Given the description of an element on the screen output the (x, y) to click on. 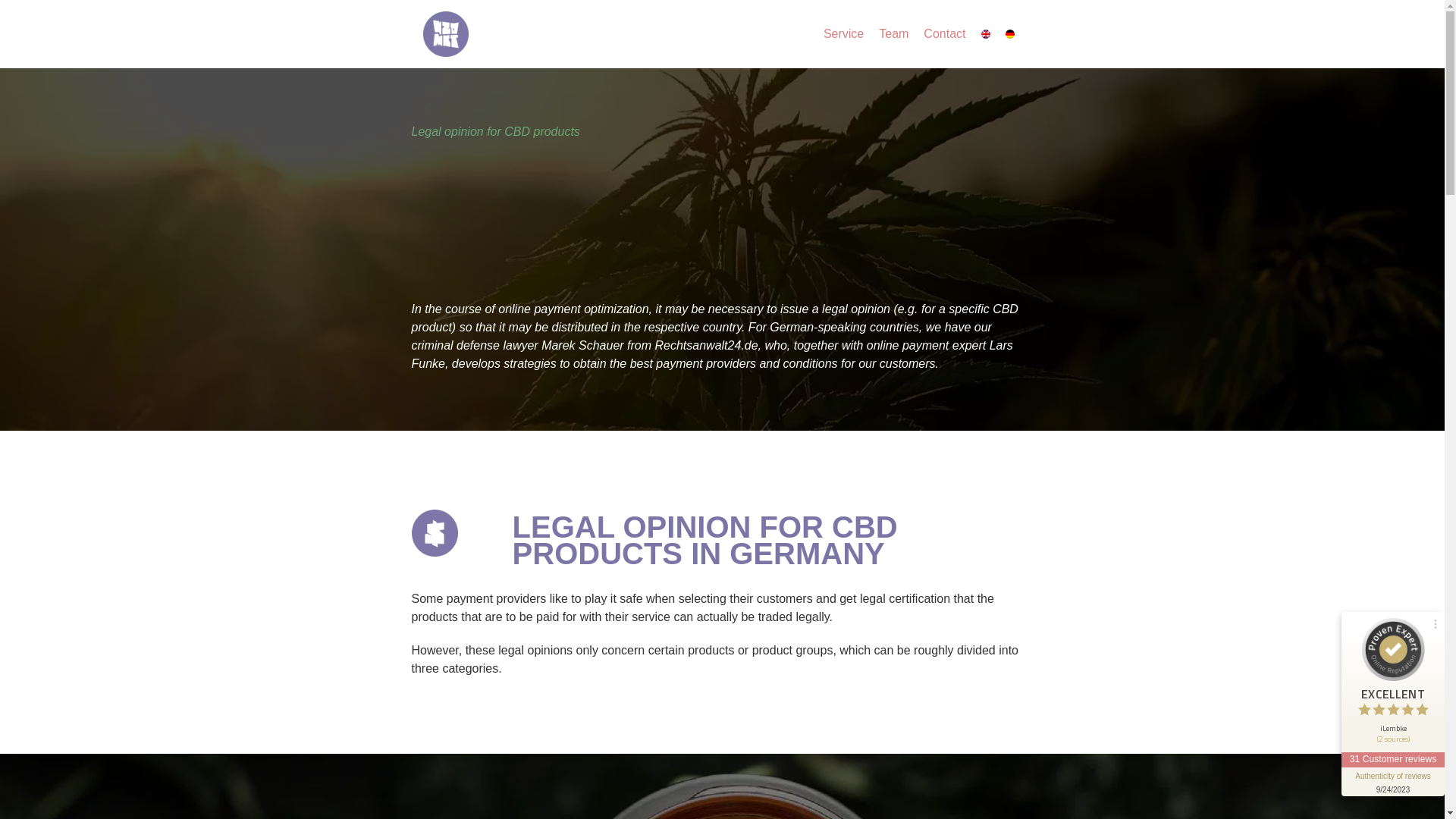
Contact (943, 33)
Close back side (1230, 623)
Team (892, 33)
Service (842, 33)
